Given the description of an element on the screen output the (x, y) to click on. 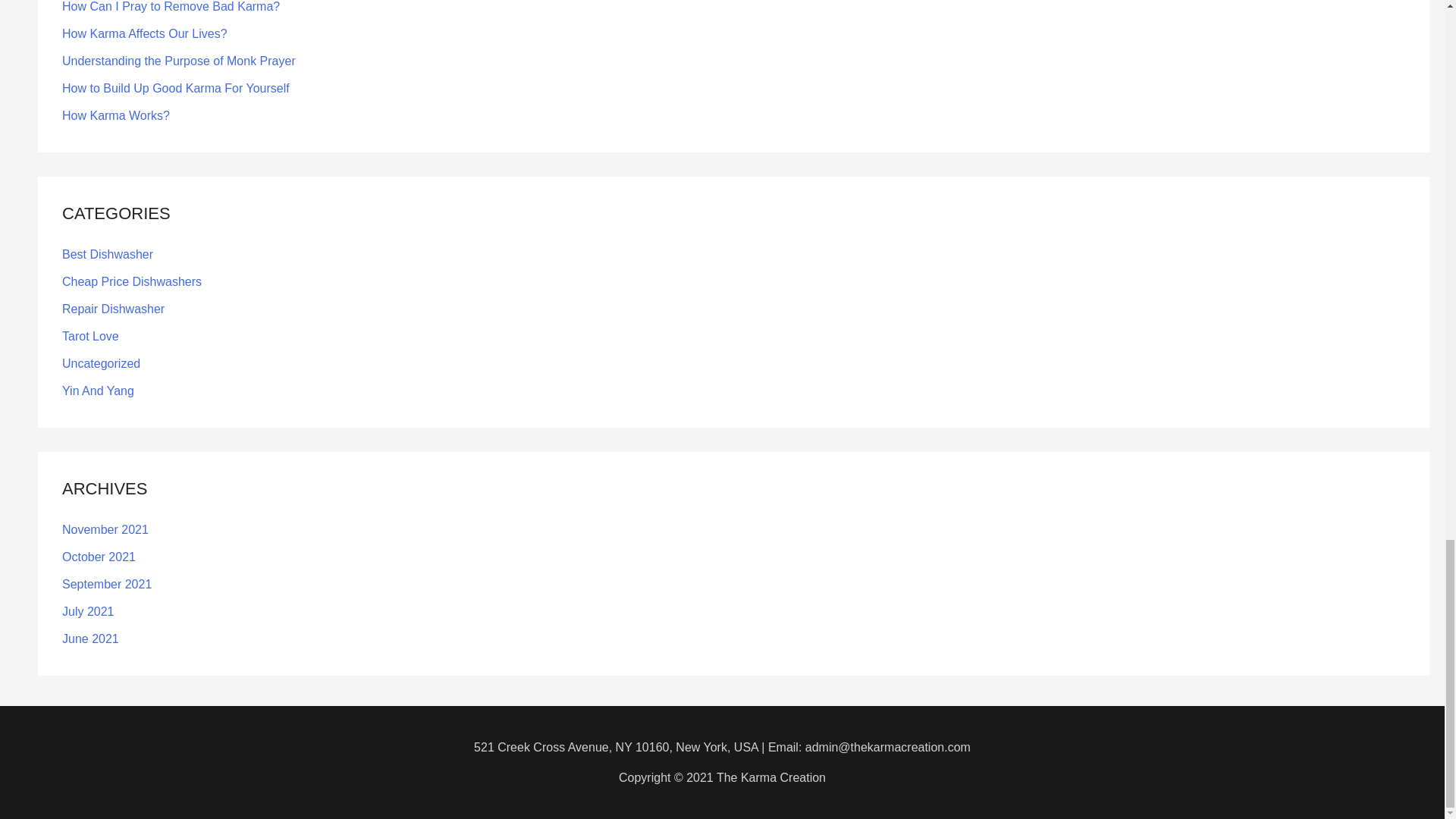
How Can I Pray to Remove Bad Karma? (170, 6)
How Karma Affects Our Lives? (144, 33)
Understanding the Purpose of Monk Prayer (178, 60)
How to Build Up Good Karma For Yourself (175, 88)
